Given the description of an element on the screen output the (x, y) to click on. 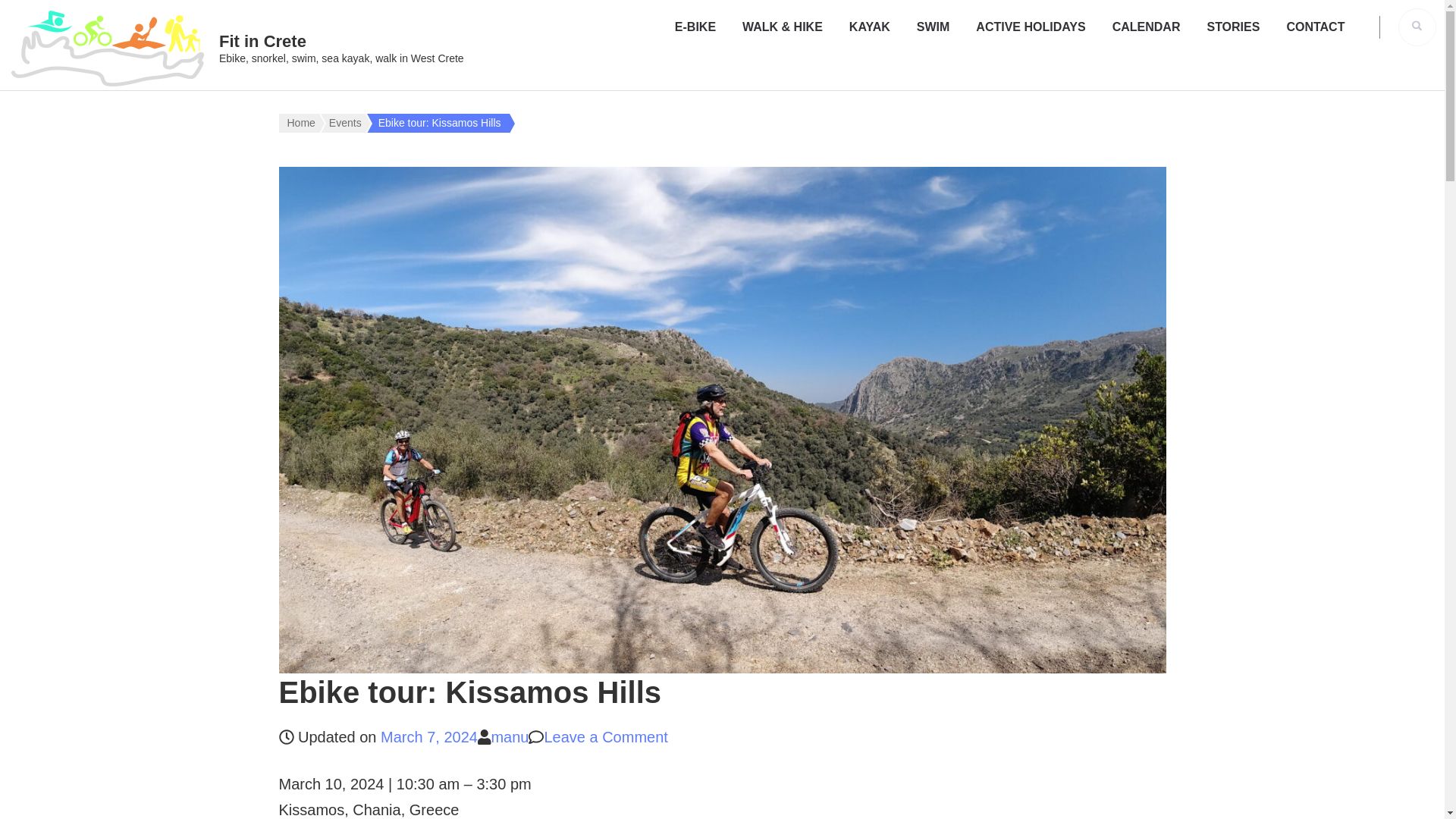
Fit in Crete (262, 40)
E-BIKE (695, 26)
SWIM (933, 26)
KAYAK (868, 26)
